Given the description of an element on the screen output the (x, y) to click on. 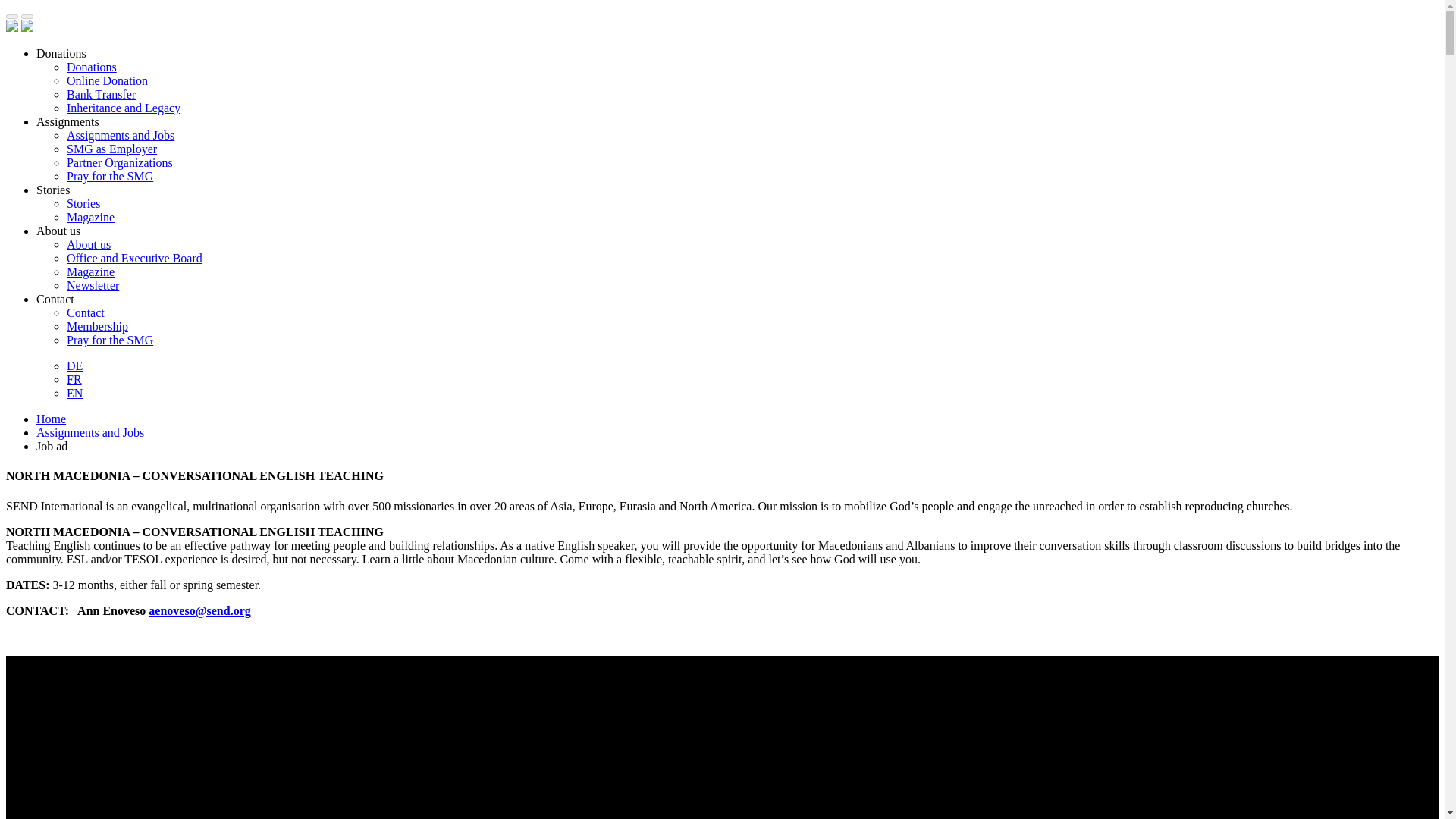
Online Donation (107, 80)
Pray for the SMG (109, 339)
Pray for the SMG (109, 175)
Assignments and Jobs (120, 134)
EN (74, 392)
Membership (97, 326)
FR (73, 379)
Contact (85, 312)
Stories (83, 203)
About us (88, 244)
Office and Executive Board (134, 257)
Bank Transfer (100, 93)
Newsletter (92, 285)
Donations (91, 66)
DE (74, 365)
